Given the description of an element on the screen output the (x, y) to click on. 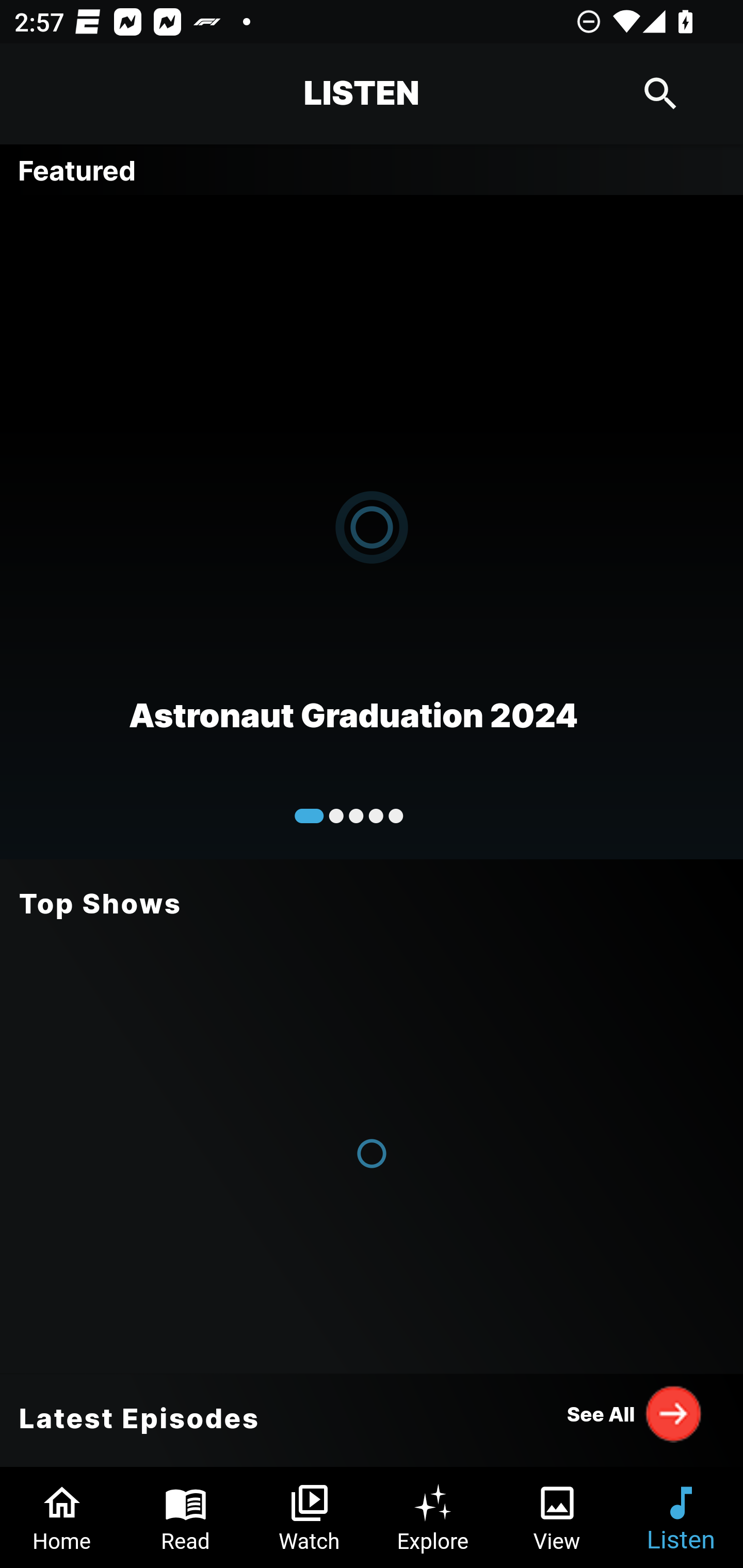
Astronaut Graduation 2024 (371, 526)
See All (634, 1413)
Home
Tab 1 of 6 (62, 1517)
Read
Tab 2 of 6 (185, 1517)
Watch
Tab 3 of 6 (309, 1517)
Explore
Tab 4 of 6 (433, 1517)
View
Tab 5 of 6 (556, 1517)
Listen
Tab 6 of 6 (680, 1517)
